Given the description of an element on the screen output the (x, y) to click on. 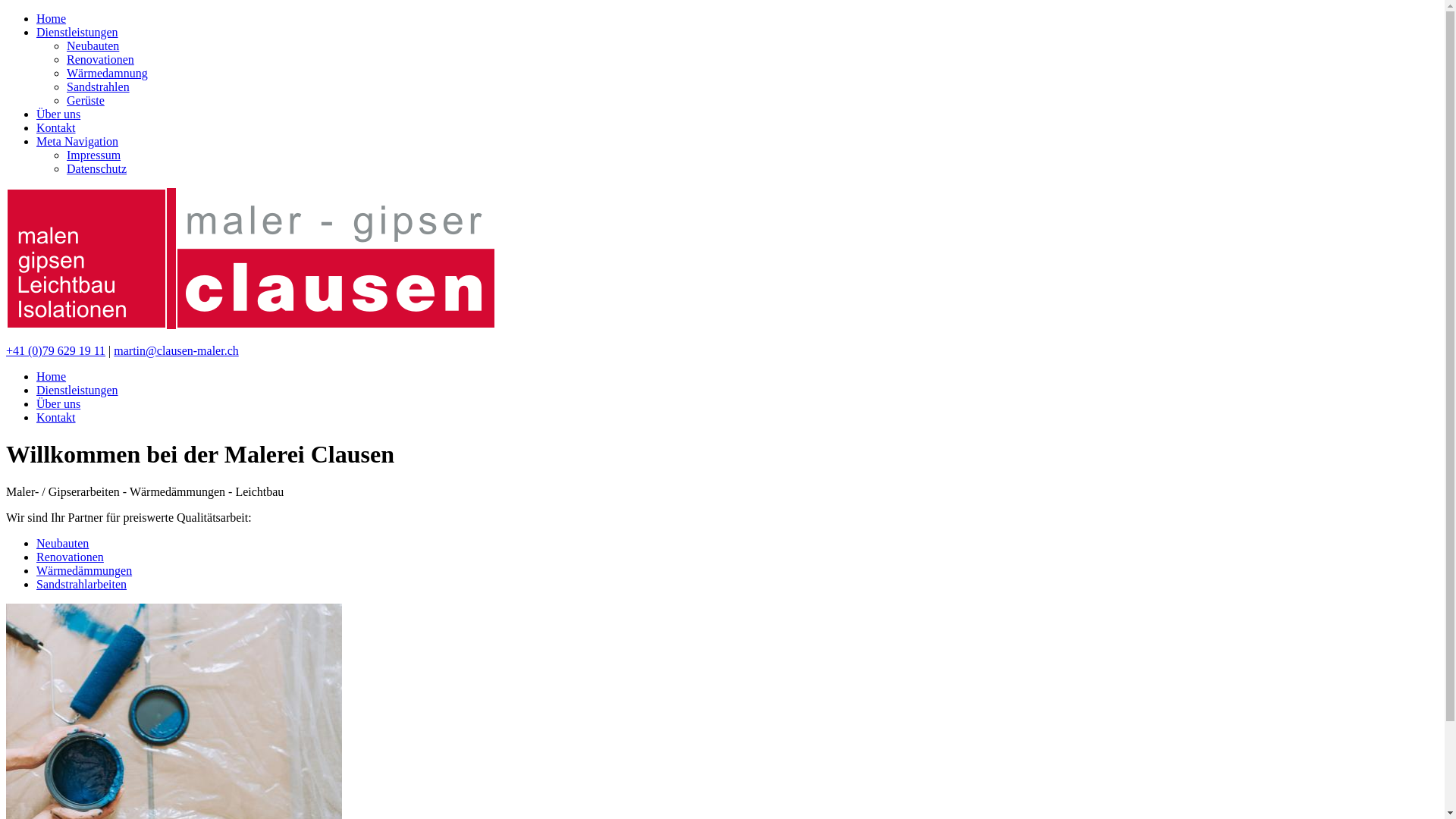
Sandstrahlen Element type: text (97, 86)
Kontakt Element type: text (55, 127)
Dienstleistungen Element type: text (77, 31)
Datenschutz Element type: text (96, 168)
Home Element type: text (50, 18)
Home Element type: text (50, 376)
Neubauten Element type: text (92, 45)
Sandstrahlarbeiten Element type: text (81, 583)
martin@clausen-maler.ch Element type: text (175, 350)
Neubauten Element type: text (62, 542)
Impressum Element type: text (93, 154)
Dienstleistungen Element type: text (77, 389)
Renovationen Element type: text (69, 556)
Kontakt Element type: text (55, 417)
Meta Navigation Element type: text (77, 140)
+41 (0)79 629 19 11 Element type: text (55, 350)
Renovationen Element type: text (100, 59)
